Given the description of an element on the screen output the (x, y) to click on. 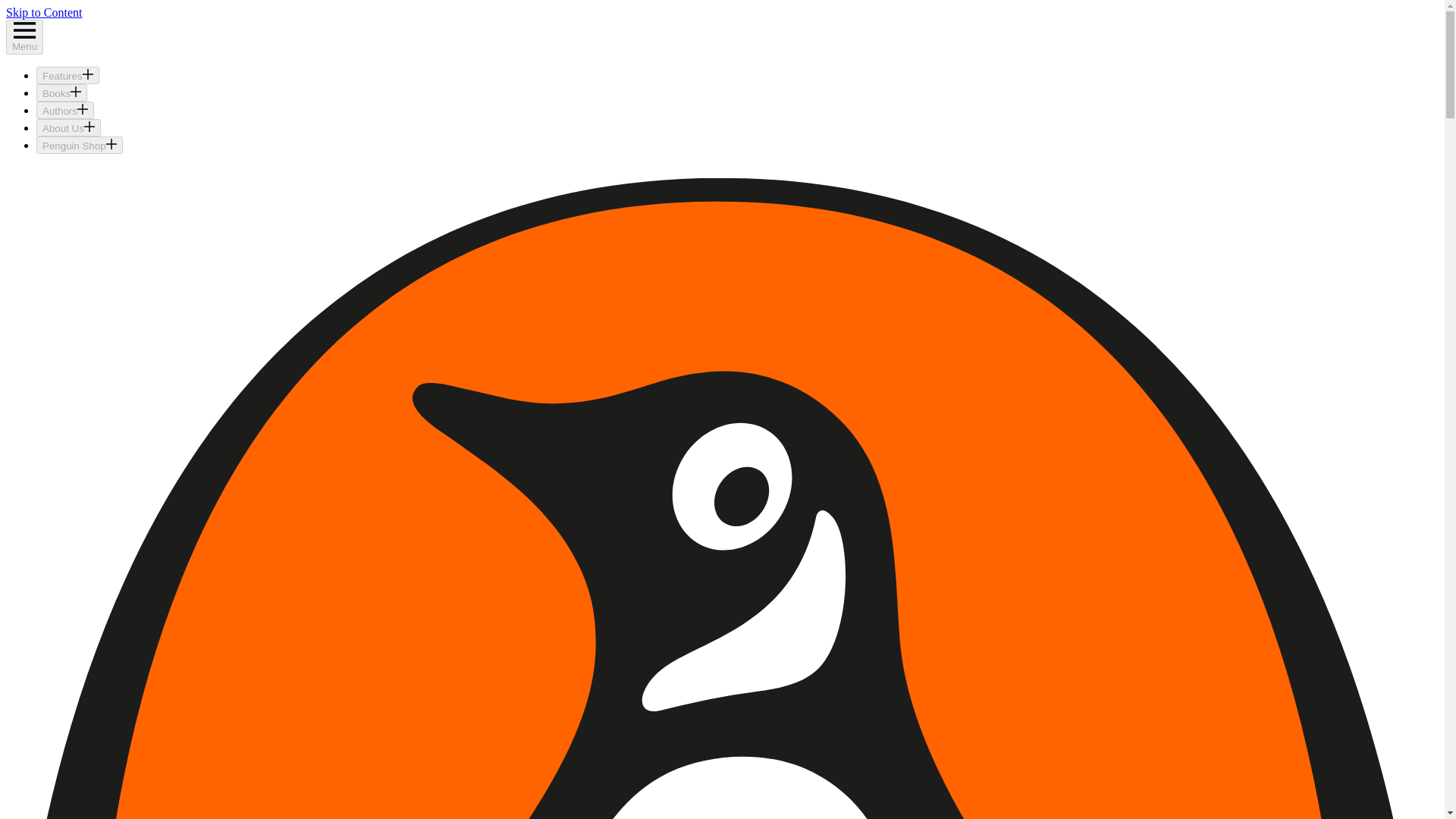
Skip to Content (43, 11)
Books (61, 92)
Authors (65, 109)
About Us (68, 127)
Features (67, 75)
Menu (24, 36)
Penguin Shop (79, 144)
